Given the description of an element on the screen output the (x, y) to click on. 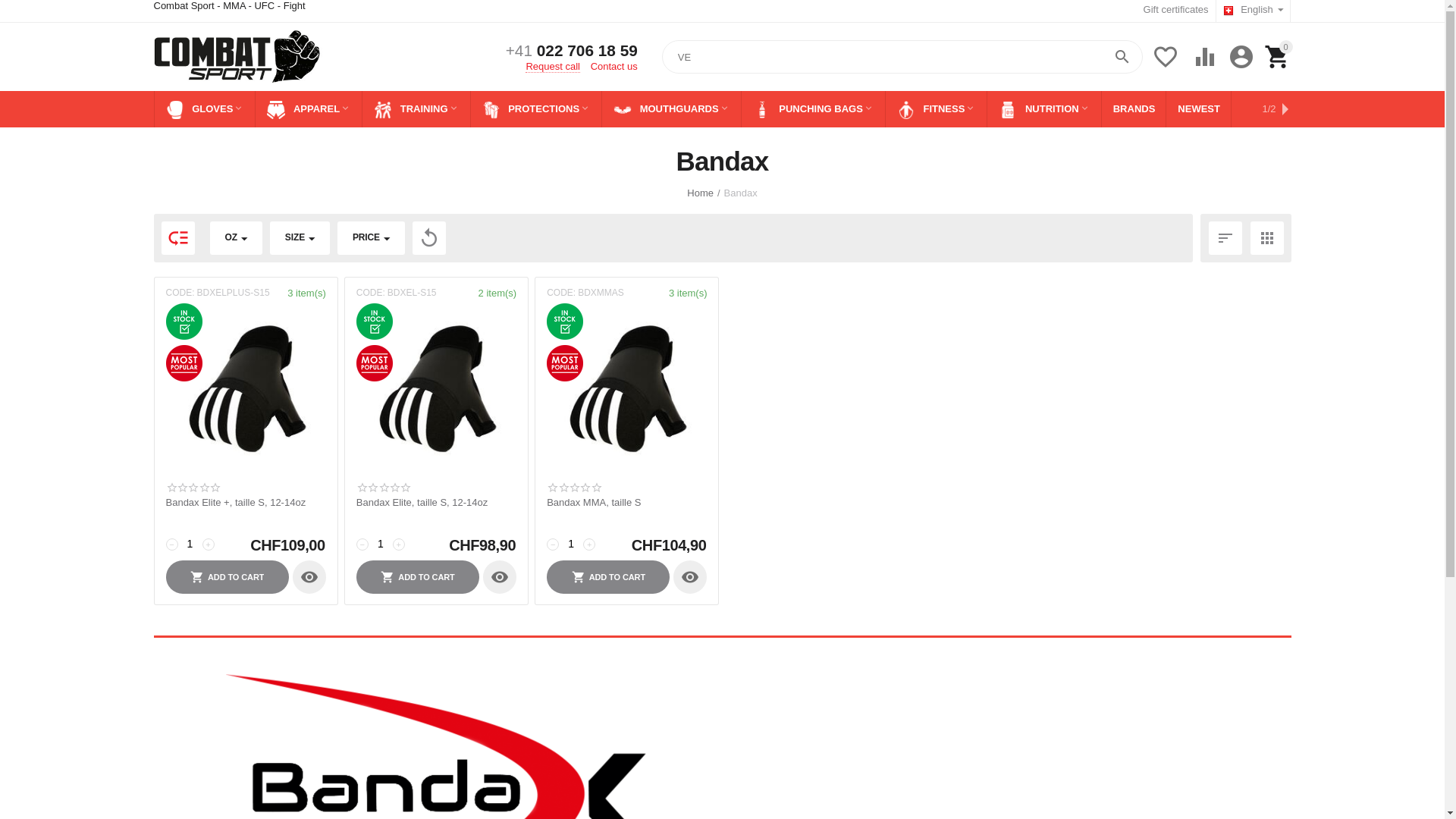
+ Element type: text (589, 544)
Bandax Elite, taille S, 12-14oz Element type: text (436, 502)
NEWEST Element type: text (1198, 109)
Home Element type: text (700, 193)
BDXELPLUS-S15-Bandax Elite +, taille S, 12-14oz Element type: hover (245, 390)
BRANDS Element type: text (1134, 109)
BDXMMAS-Bandax MMA, taille S Element type: hover (626, 390)
Contact us Element type: text (613, 66)
English Element type: text (1253, 10)
+41 022 706 18 59 Element type: text (571, 50)
+ Element type: text (398, 544)
Request call Element type: text (552, 66)
Search products Element type: hover (902, 56)
Gift certificates Element type: text (1175, 9)
Bandax Elite +, taille S, 12-14oz Element type: text (245, 502)
ADD TO CART Element type: text (226, 576)
ADD TO CART Element type: text (607, 576)
+ Element type: text (207, 544)
ADD TO CART Element type: text (417, 576)
Bandax MMA, taille S Element type: text (626, 502)
BDXEL-S15-Bandax Elite, taille S, 12-14oz Element type: hover (436, 390)
